Given the description of an element on the screen output the (x, y) to click on. 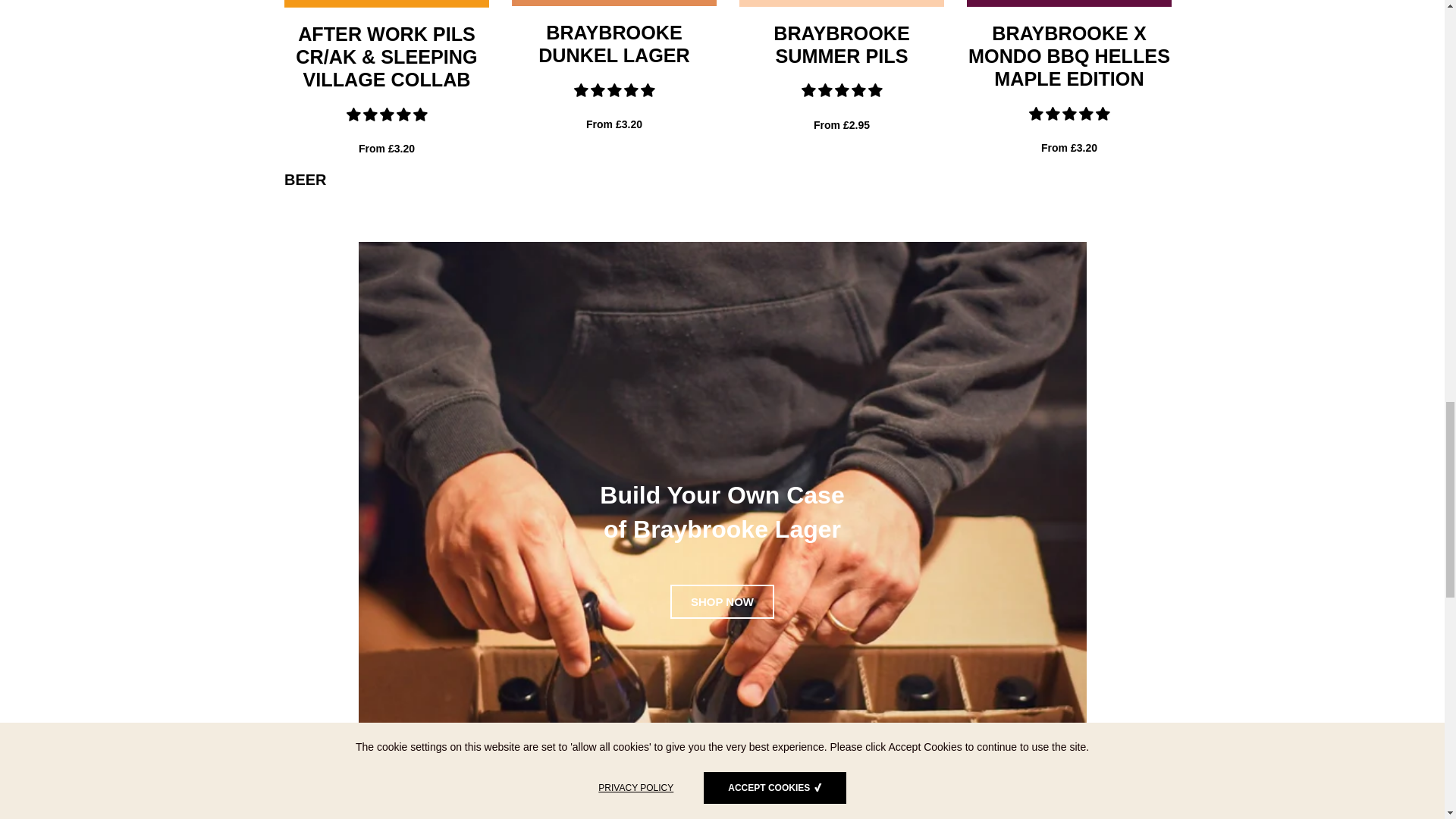
BRAYBROOKE DUNKEL LAGER (614, 43)
